Given the description of an element on the screen output the (x, y) to click on. 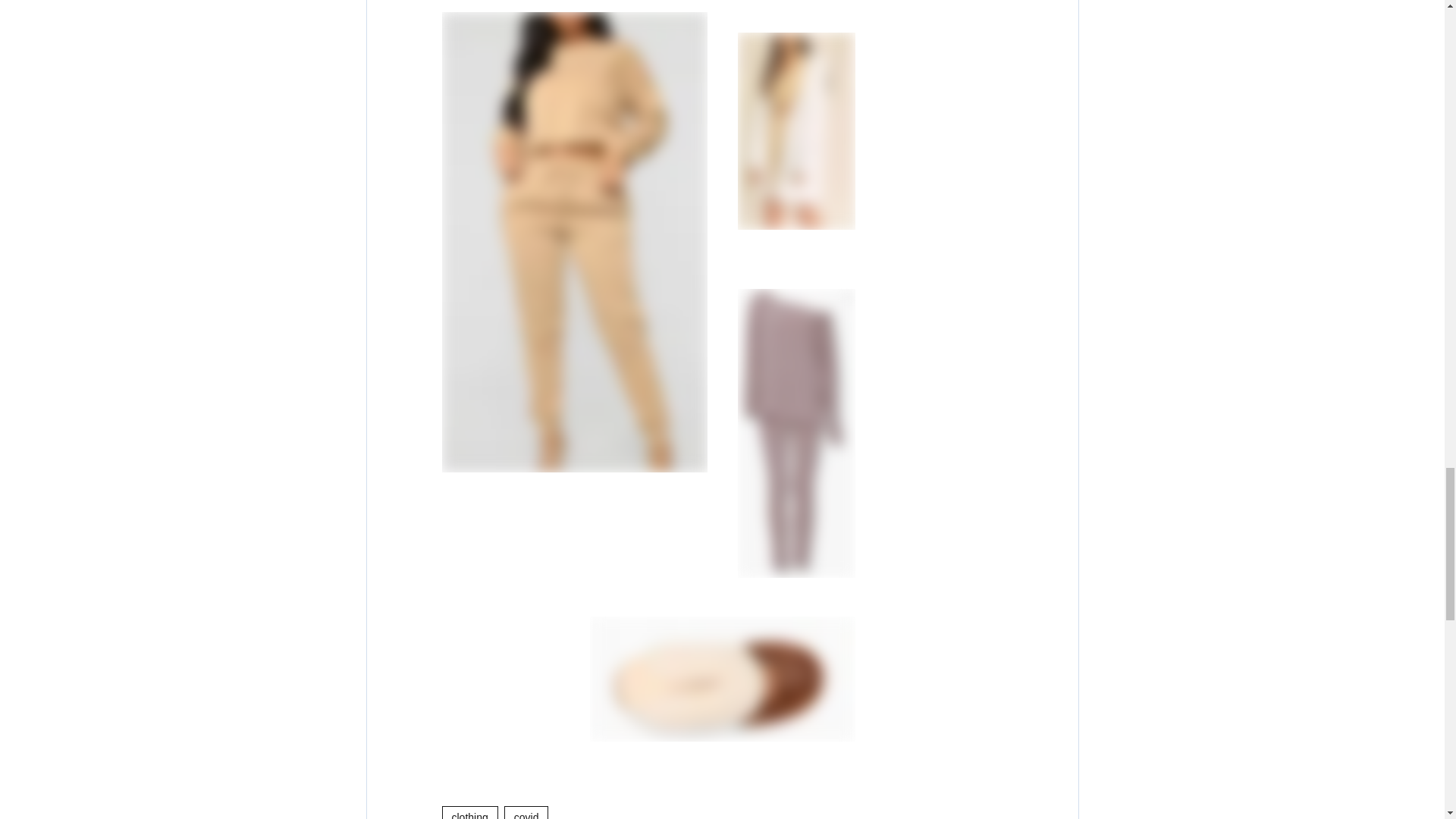
covid (525, 812)
clothing (469, 812)
